Given the description of an element on the screen output the (x, y) to click on. 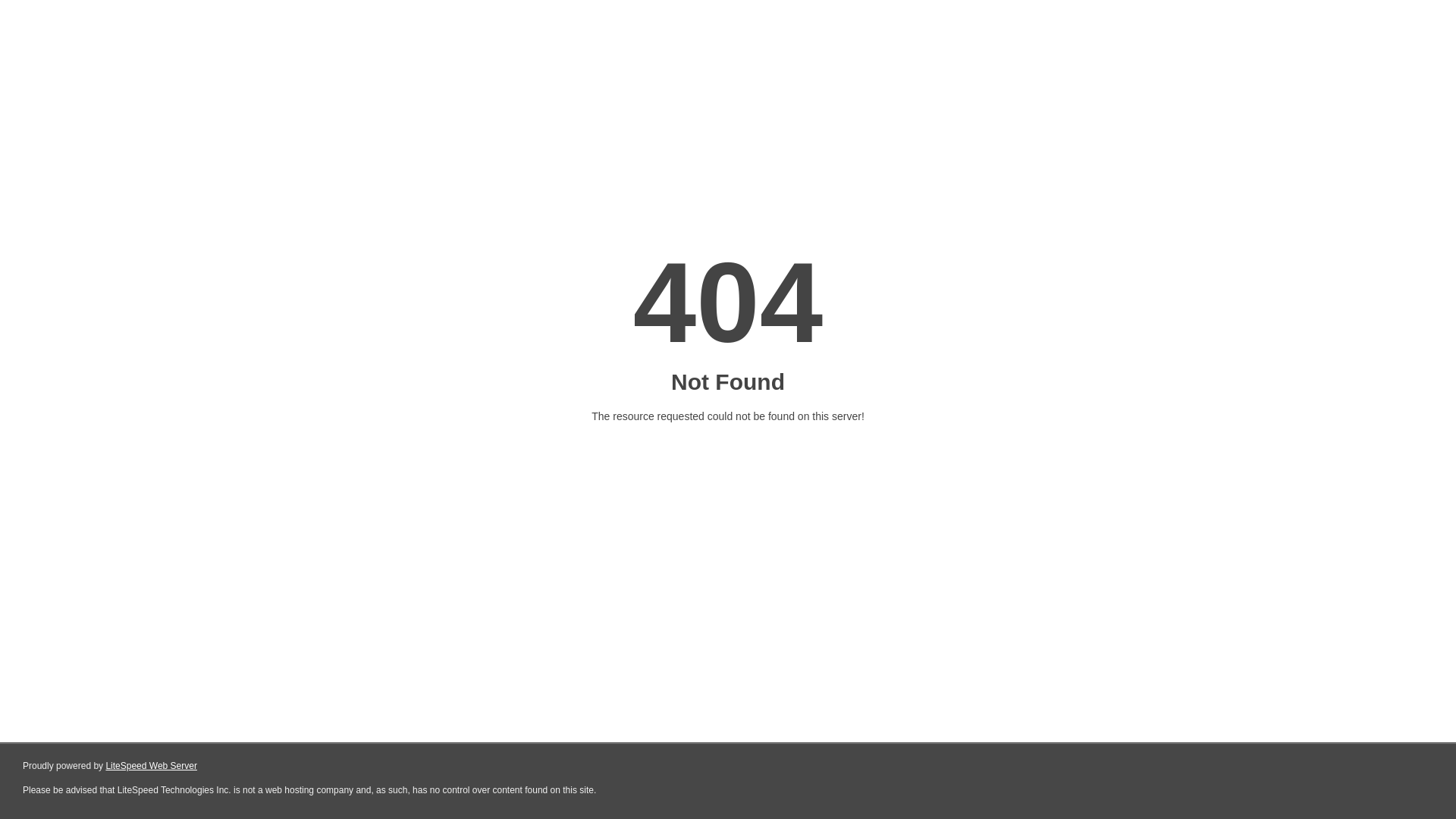
LiteSpeed Web Server Element type: text (151, 765)
